Given the description of an element on the screen output the (x, y) to click on. 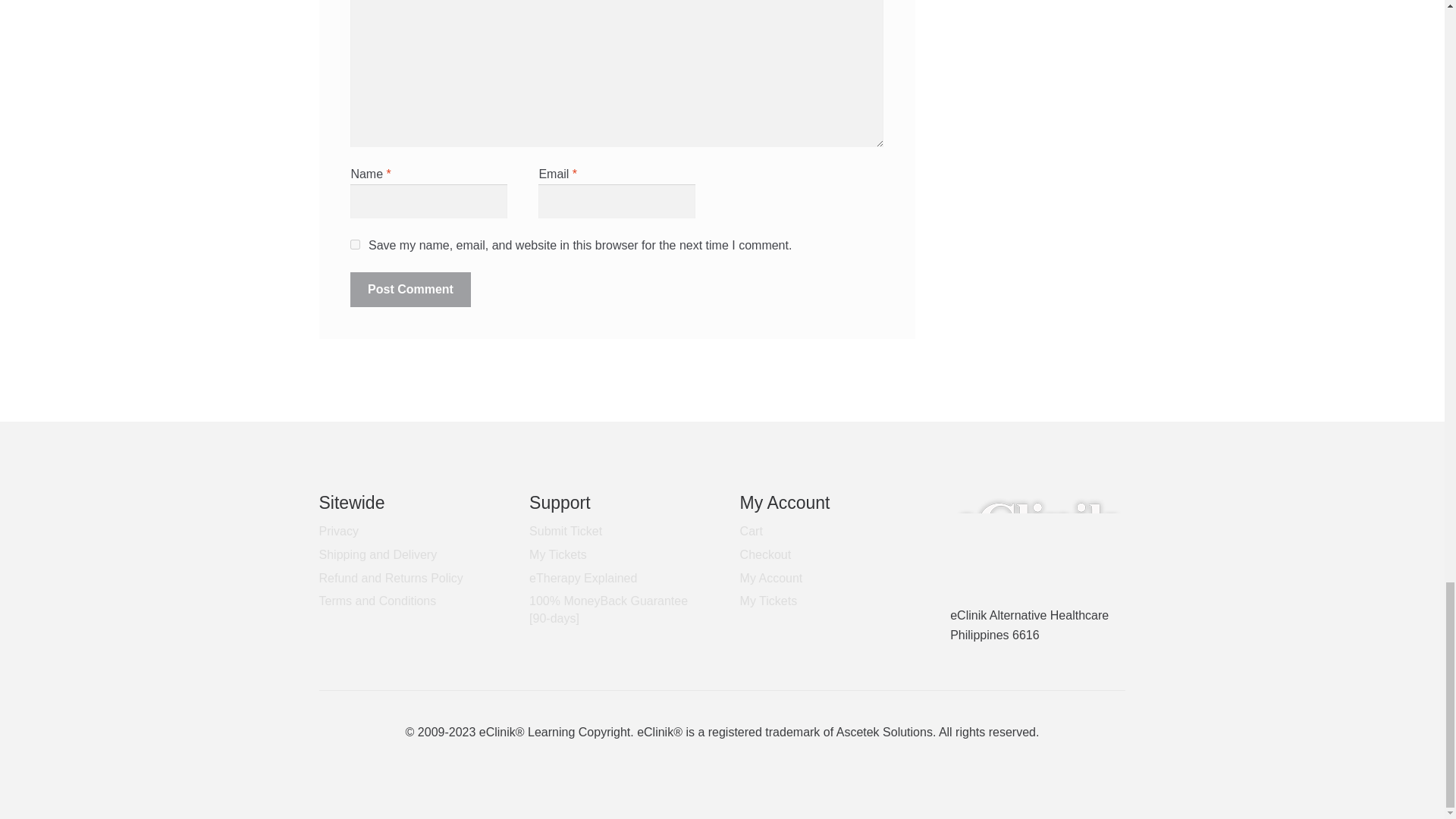
yes (354, 244)
Post Comment (410, 289)
